Given the description of an element on the screen output the (x, y) to click on. 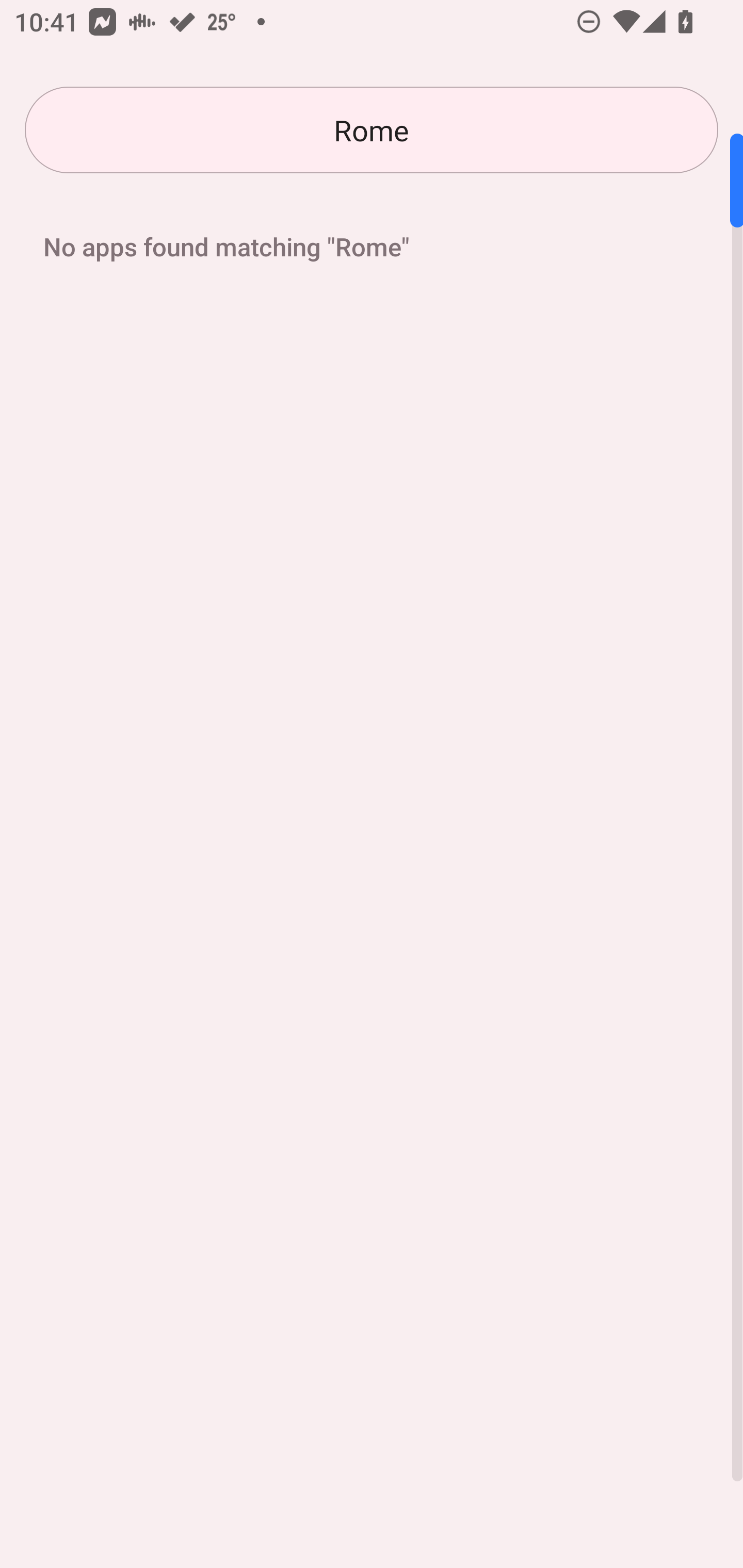
Rome (371, 130)
